Given the description of an element on the screen output the (x, y) to click on. 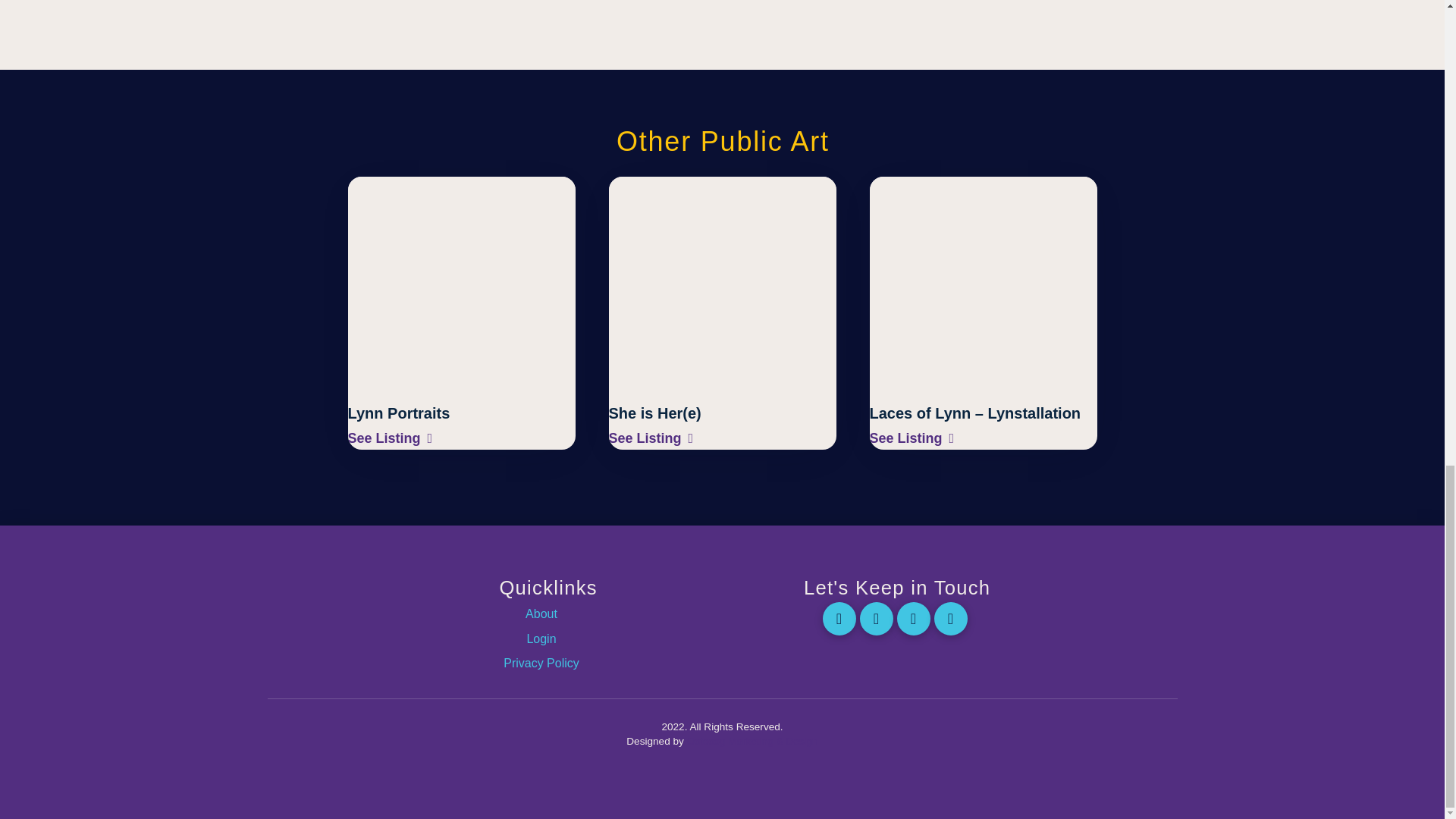
About (547, 613)
Privacy Policy (547, 663)
Login (547, 638)
